Given the description of an element on the screen output the (x, y) to click on. 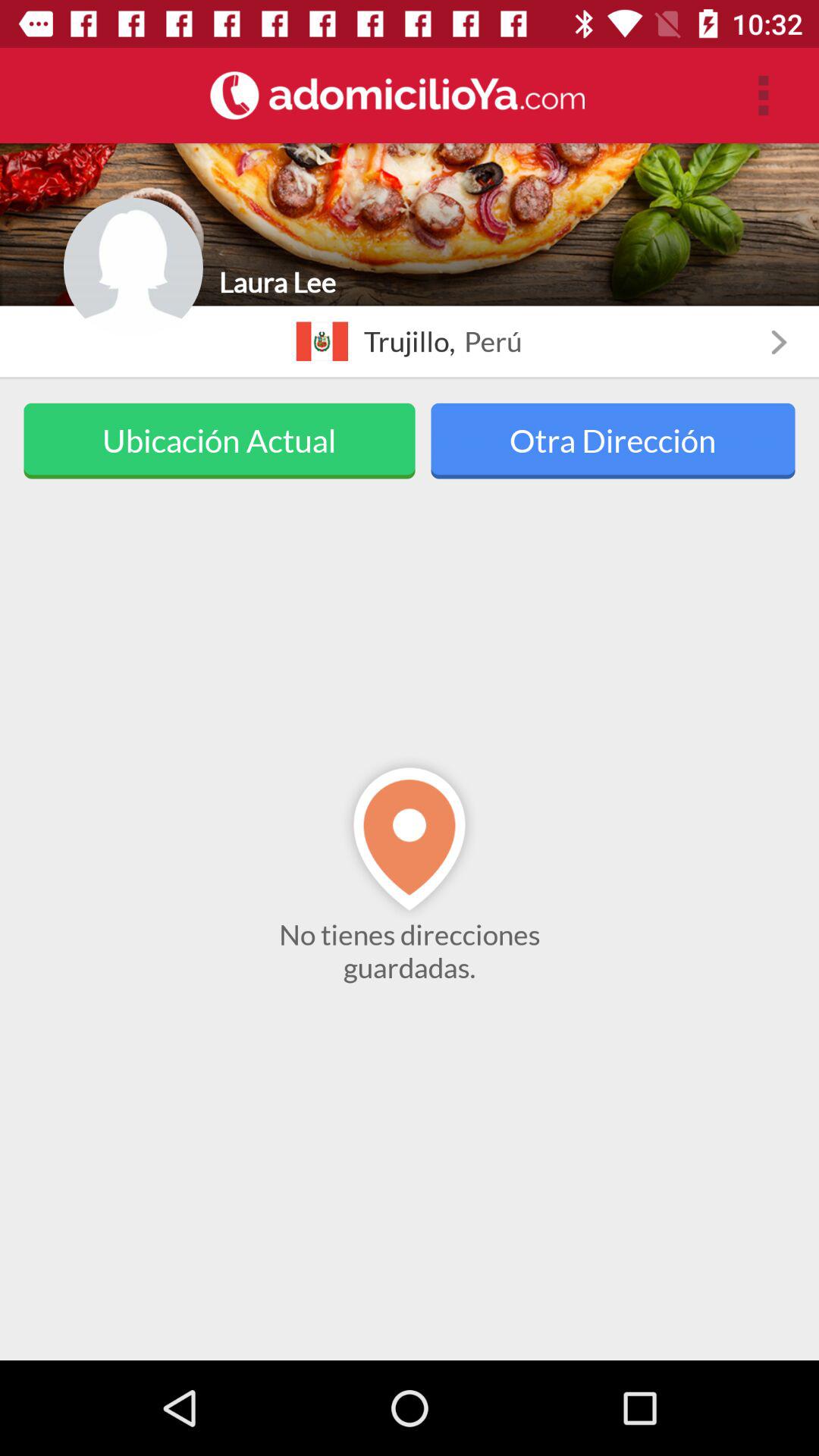
press the item above no tienes direcciones app (612, 440)
